Given the description of an element on the screen output the (x, y) to click on. 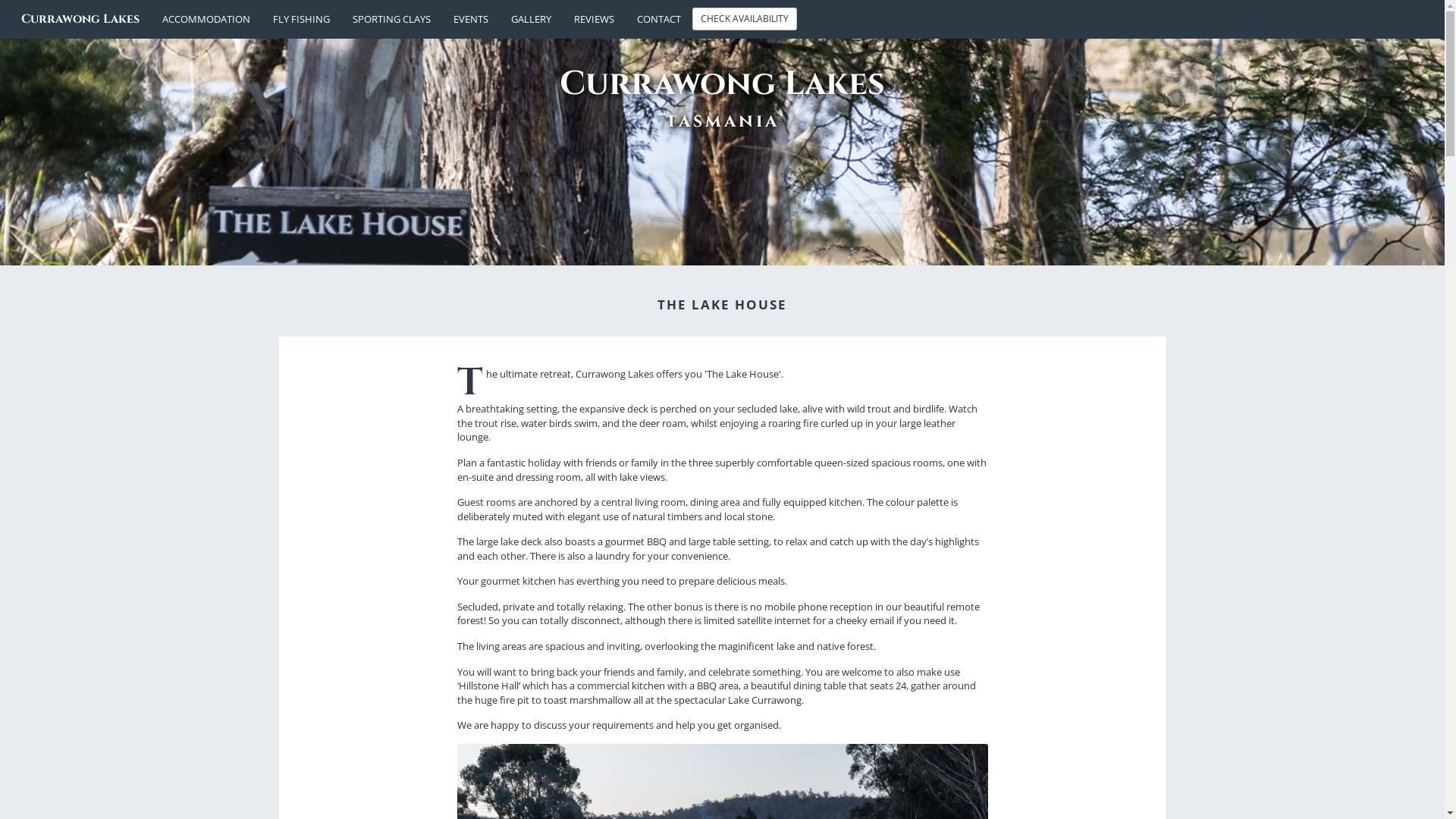
SPORTING CLAYS Element type: text (391, 18)
FLY FISHING Element type: text (301, 18)
Currawong Lakes Element type: text (79, 18)
REVIEWS Element type: text (593, 18)
CONTACT Element type: text (658, 18)
CHECK AVAILABILITY Element type: text (744, 18)
GALLERY Element type: text (530, 18)
EVENTS Element type: text (470, 18)
ACCOMMODATION Element type: text (205, 18)
